Given the description of an element on the screen output the (x, y) to click on. 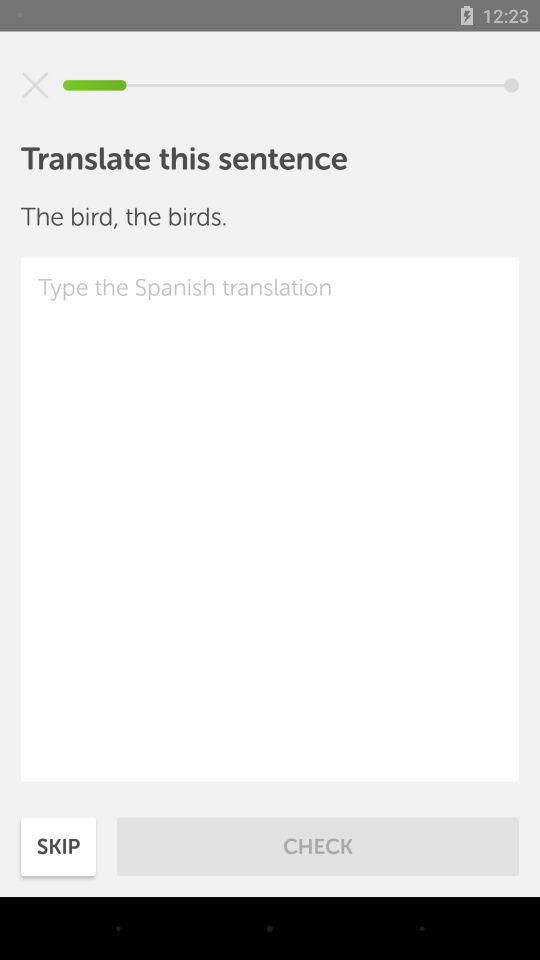
field for spanish translation (270, 519)
